Given the description of an element on the screen output the (x, y) to click on. 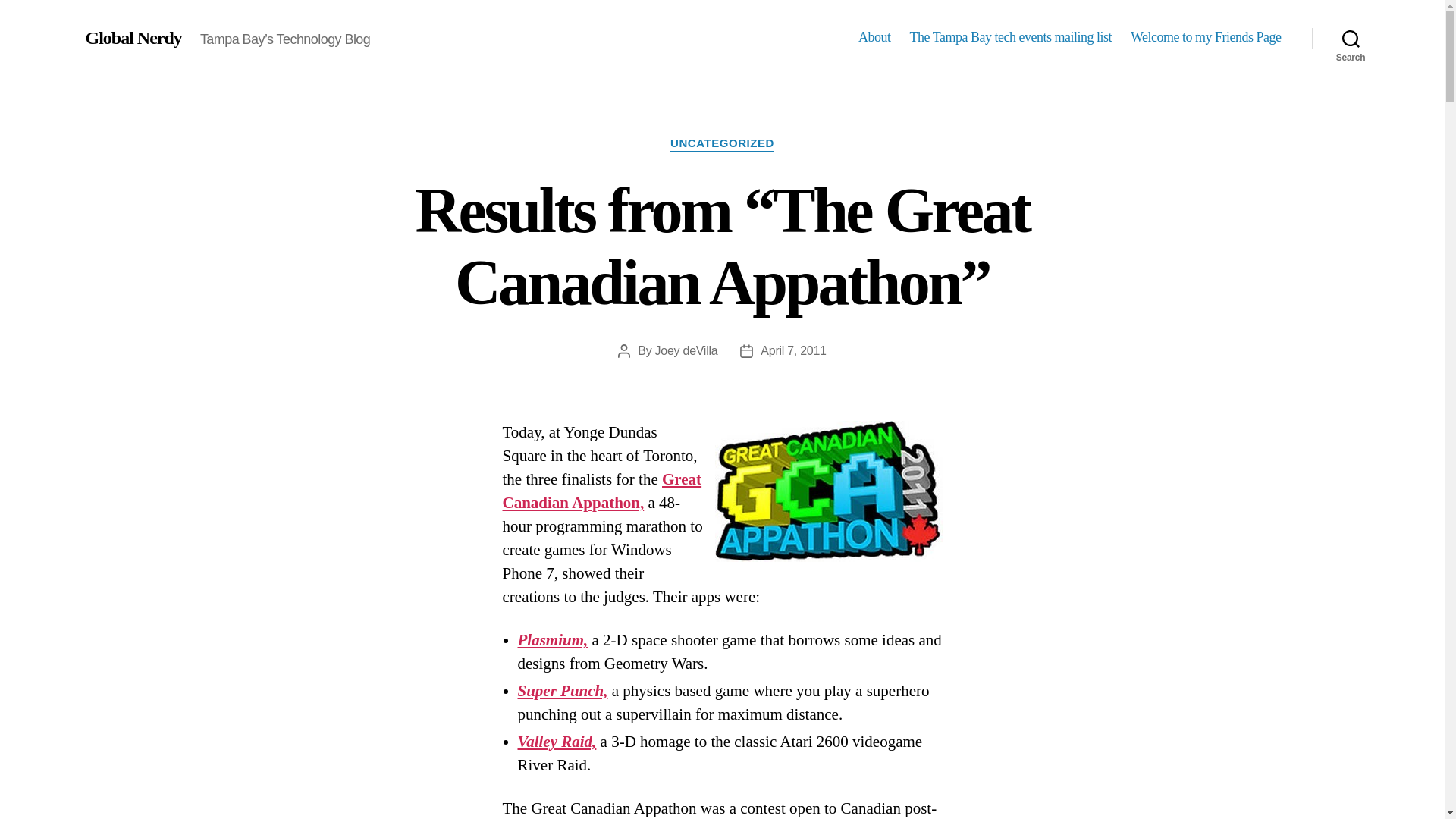
Joey deVilla (686, 350)
Global Nerdy (132, 37)
Great Canadian Appathon, (601, 490)
About (875, 37)
UNCATEGORIZED (721, 143)
Search (1350, 37)
The Tampa Bay tech events mailing list (1011, 37)
Plasmium, (552, 639)
great-canadian-appathon (828, 490)
Super Punch, (561, 690)
Welcome to my Friends Page (1206, 37)
Valley Raid, (555, 741)
April 7, 2011 (792, 350)
